Given the description of an element on the screen output the (x, y) to click on. 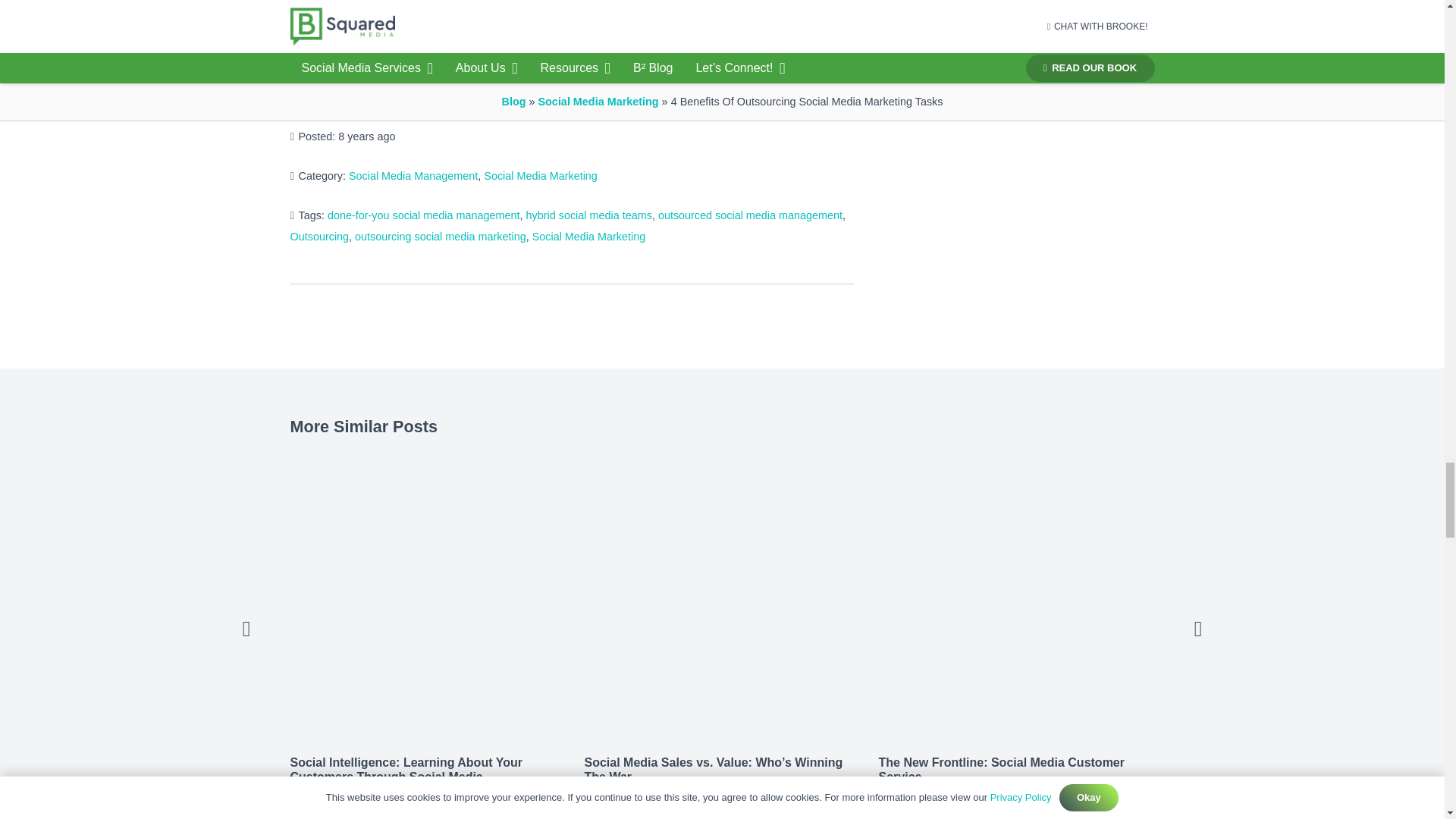
Sign Up for Goodies! (394, 3)
